Given the description of an element on the screen output the (x, y) to click on. 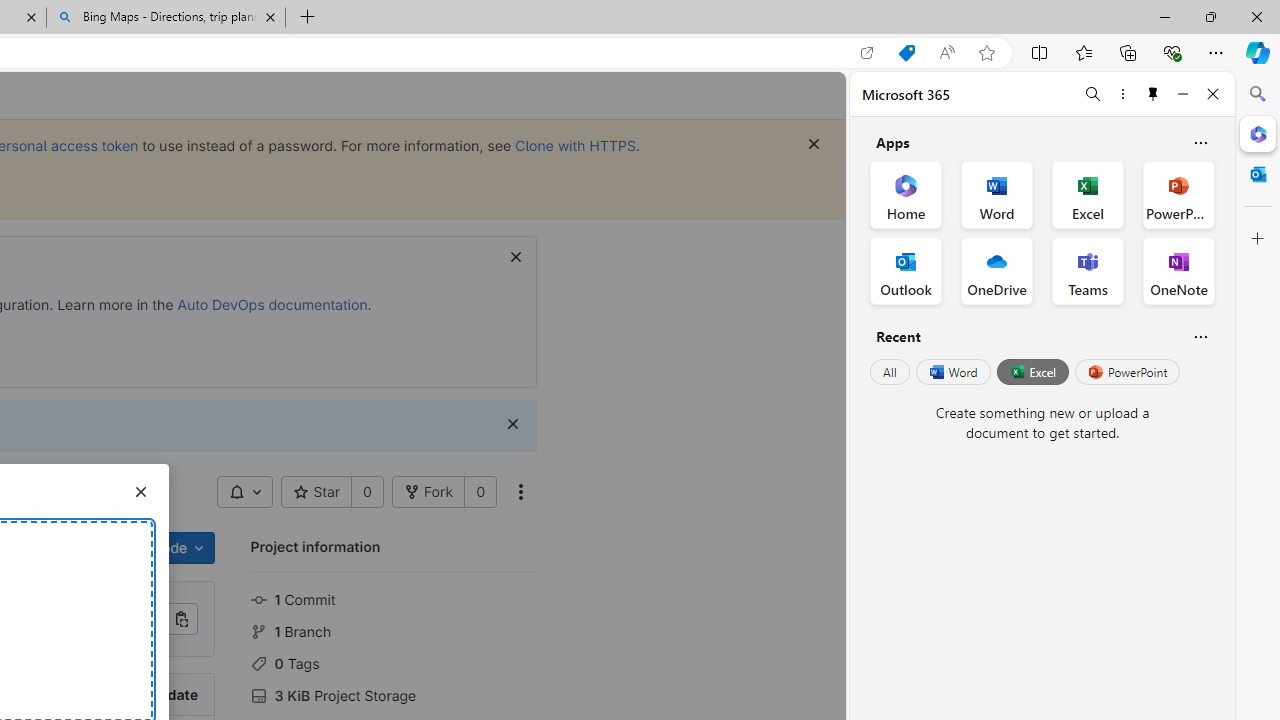
1 Commit (395, 597)
PowerPoint Office App (1178, 194)
Dismiss Auto DevOps box (515, 256)
Dismiss (512, 423)
1 Branch (395, 629)
OneDrive Office App (996, 270)
Teams Office App (1087, 270)
OneNote Office App (1178, 270)
 Star (317, 491)
